Given the description of an element on the screen output the (x, y) to click on. 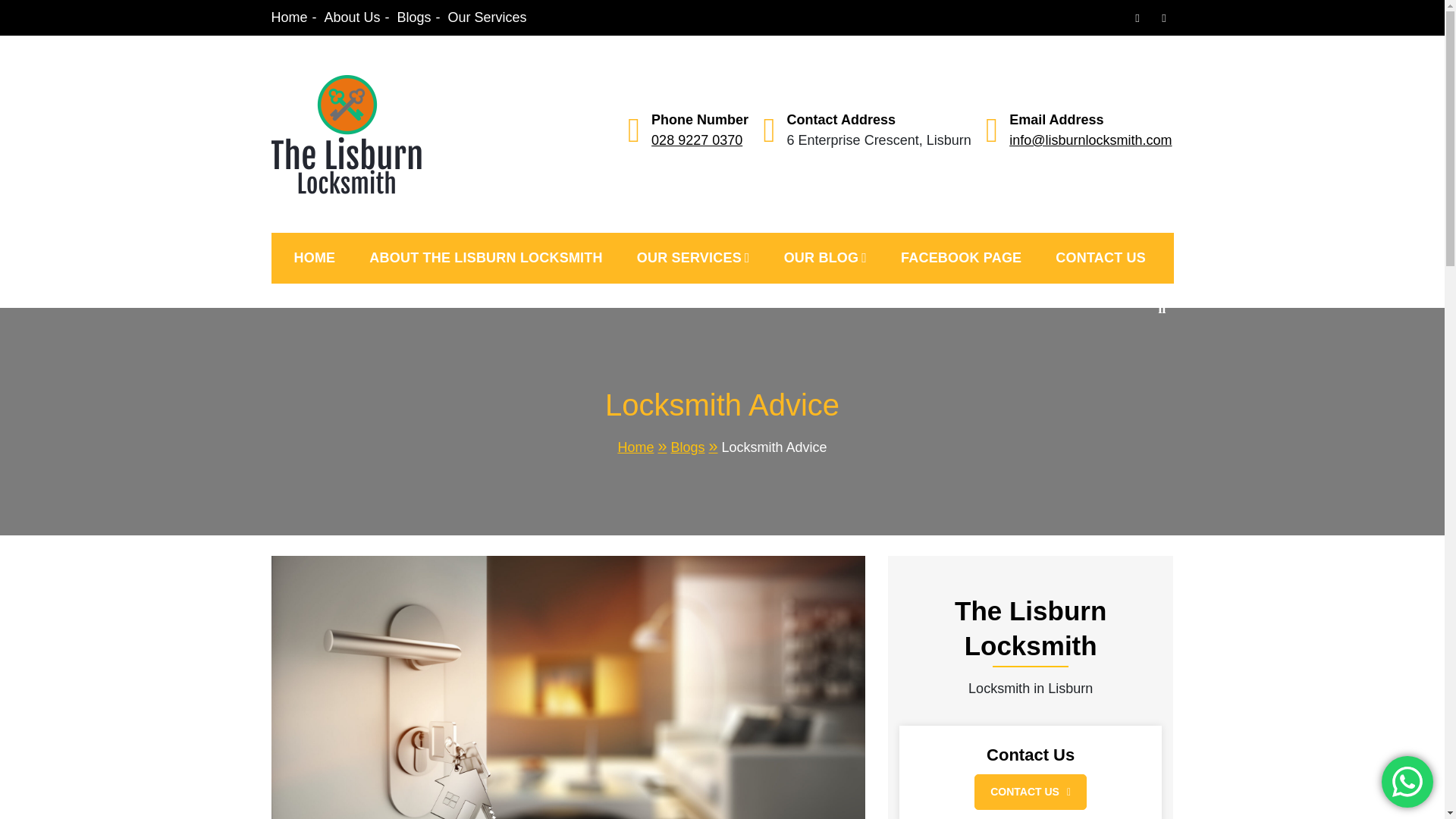
028 9227 0370 (696, 140)
CONTACT US (1100, 258)
Home (293, 17)
WhatsApp us (1406, 781)
OUR SERVICES (693, 258)
OUR BLOG (825, 258)
Lisburn Locksmith (490, 243)
FACEBOOK PAGE (960, 258)
ABOUT THE LISBURN LOCKSMITH (485, 258)
Blogs (694, 447)
Blogs (419, 17)
CONTACT US (1030, 791)
Contact Us (1030, 758)
Our Services (487, 17)
Home (643, 447)
